Given the description of an element on the screen output the (x, y) to click on. 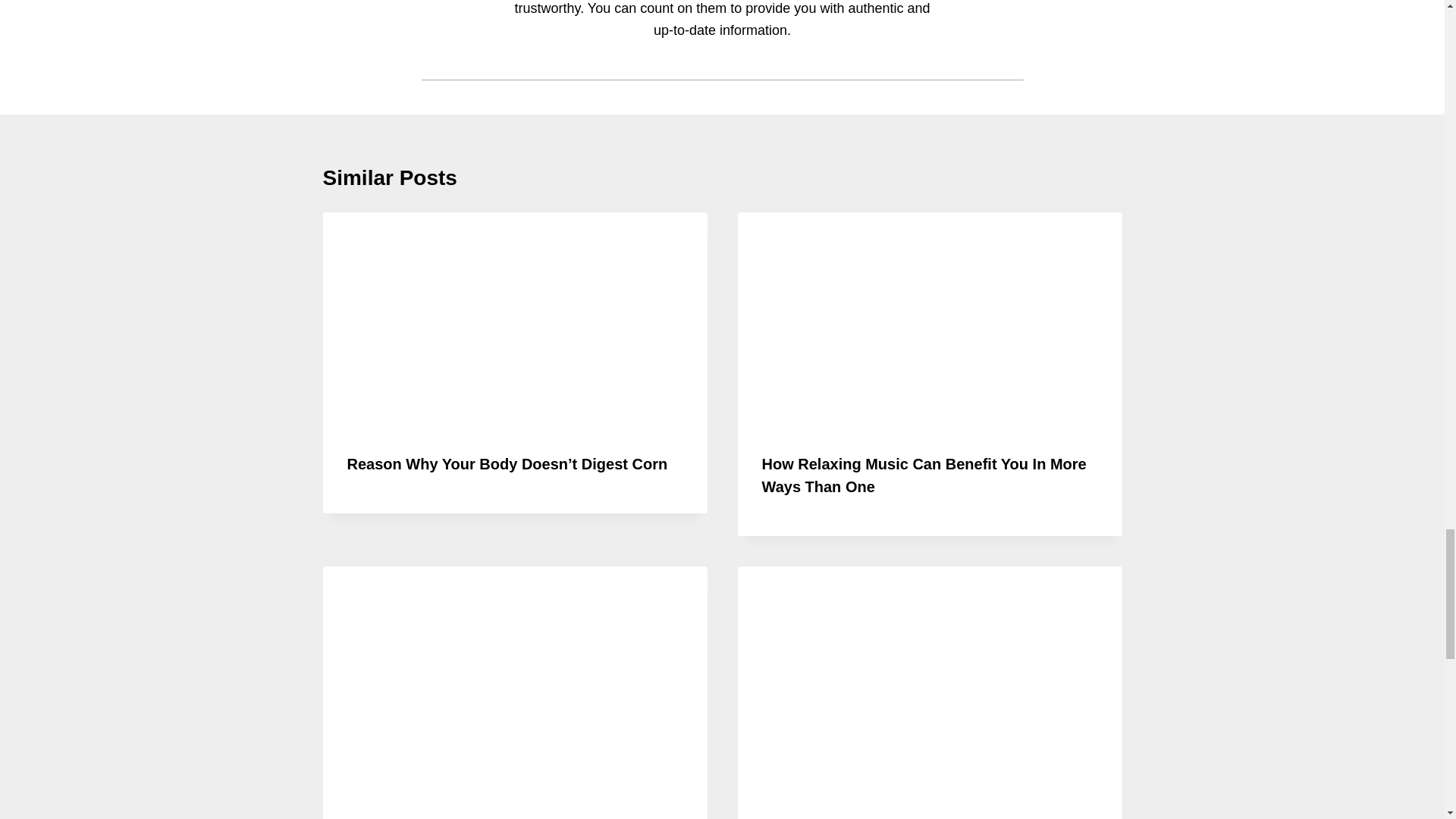
How Relaxing Music Can Benefit You In More Ways Than One (923, 475)
